Given the description of an element on the screen output the (x, y) to click on. 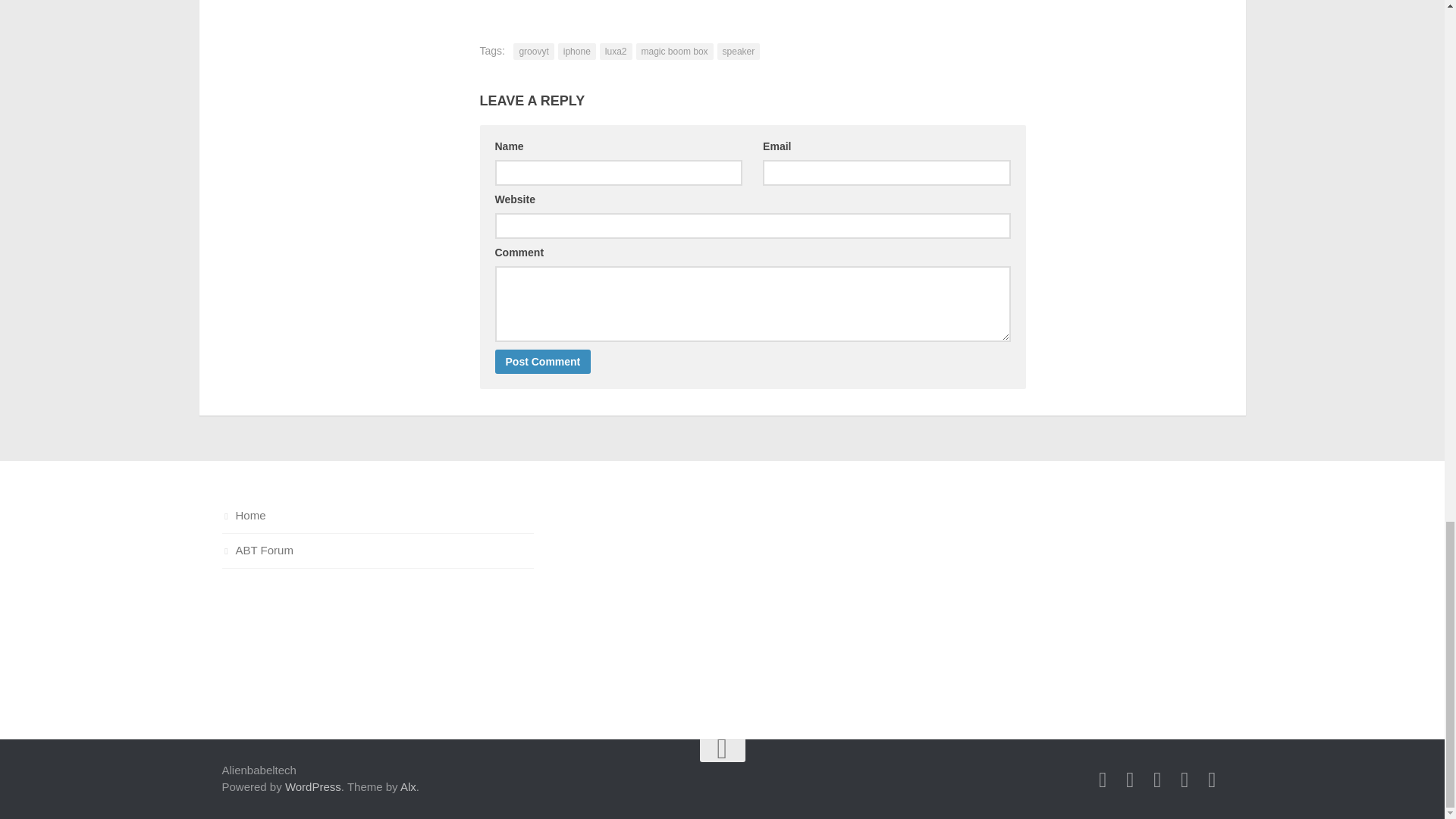
Post Comment (543, 361)
magic boom box (674, 51)
Post Comment (543, 361)
iphone (576, 51)
speaker (738, 51)
groovyt (533, 51)
luxa2 (615, 51)
